Given the description of an element on the screen output the (x, y) to click on. 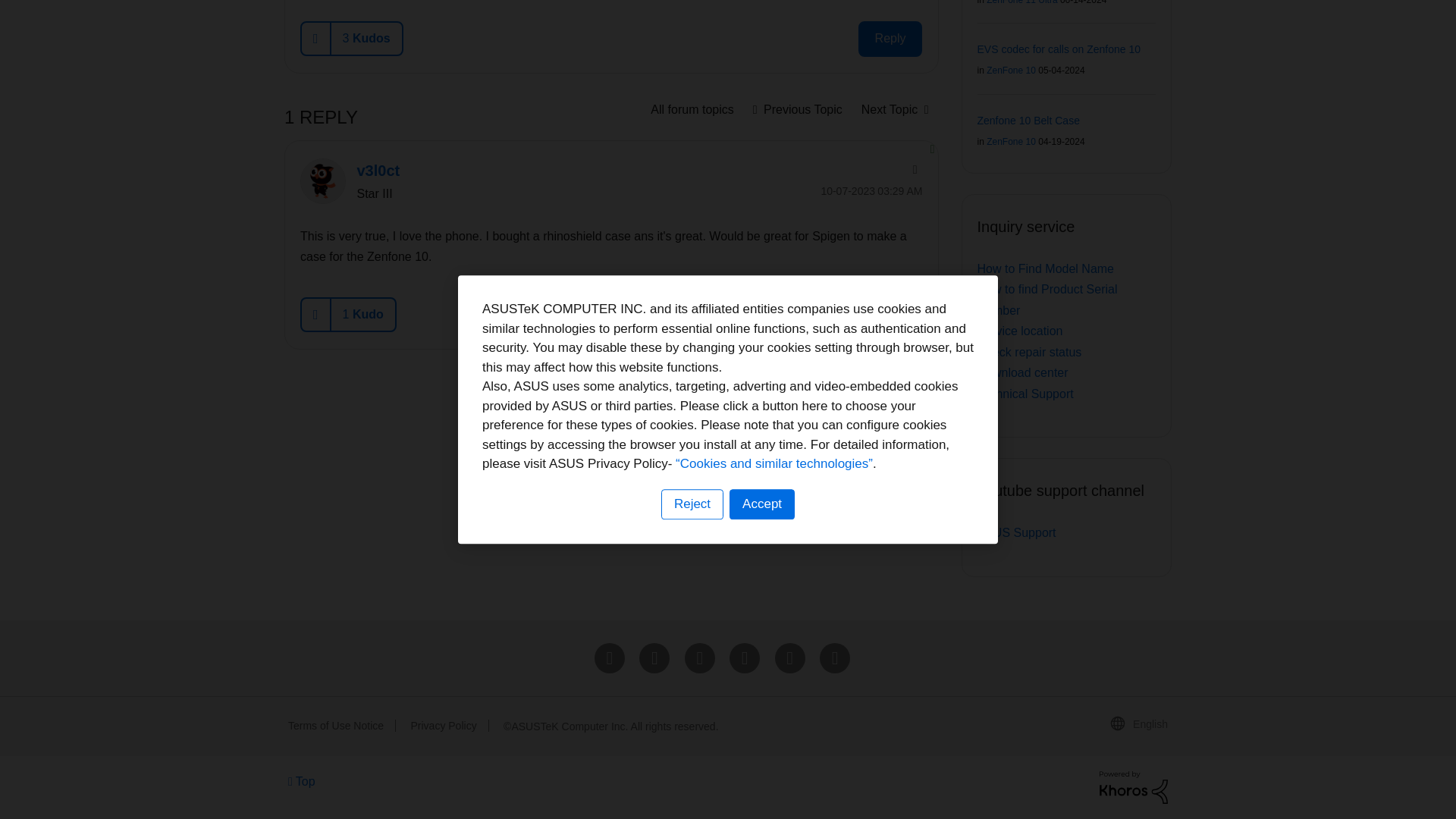
Click here to give kudos to this post. (316, 38)
ZenFone 10 (691, 109)
Click here to see who gave kudos to this post. (366, 38)
